Given the description of an element on the screen output the (x, y) to click on. 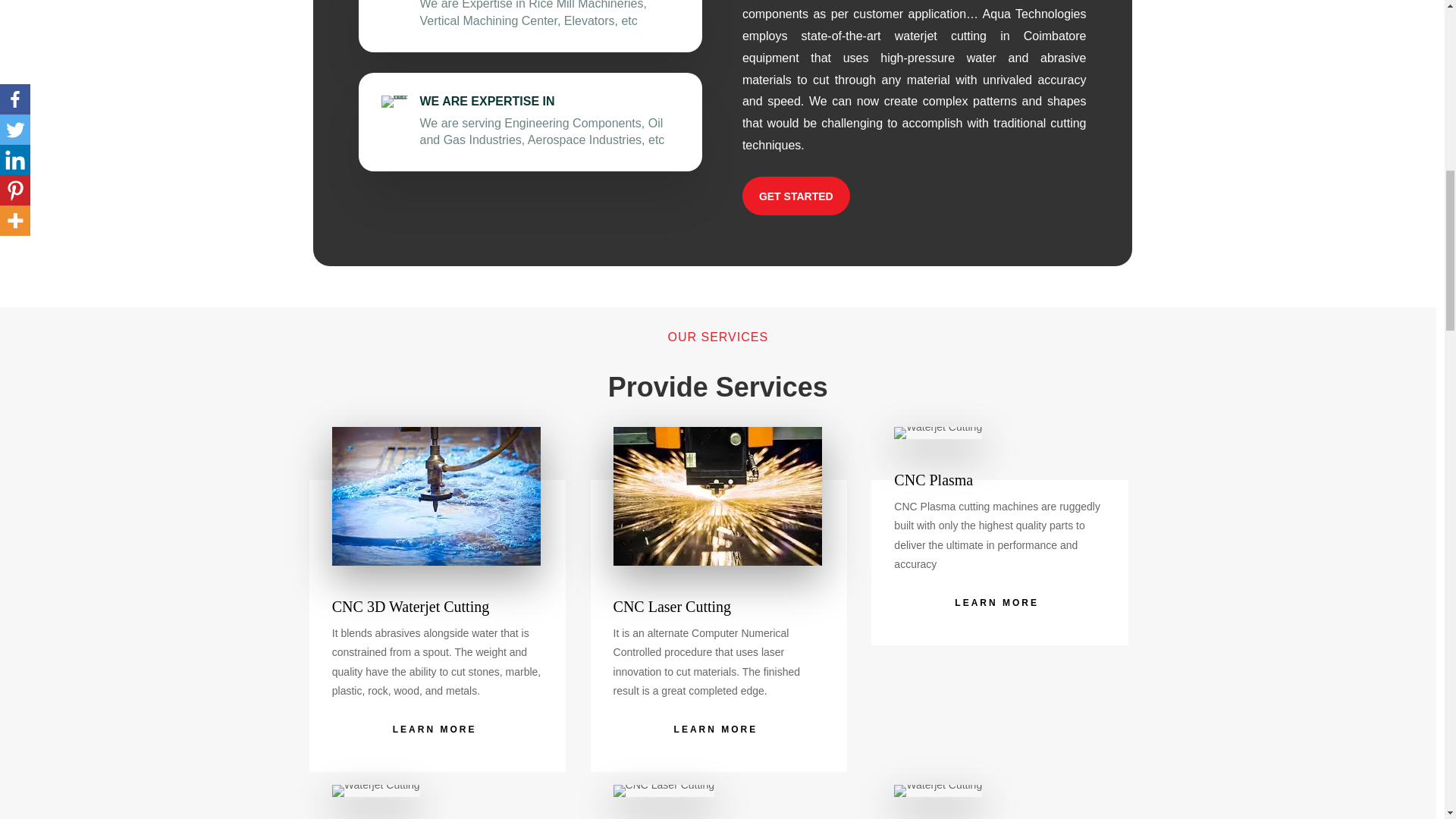
cnc-bending (663, 790)
cnc-rolling (937, 790)
Waterjet Cutting (937, 432)
Waterjet Cutting (435, 495)
CNC Laser Cutting (717, 495)
Waterjet Cutting (375, 790)
